Given the description of an element on the screen output the (x, y) to click on. 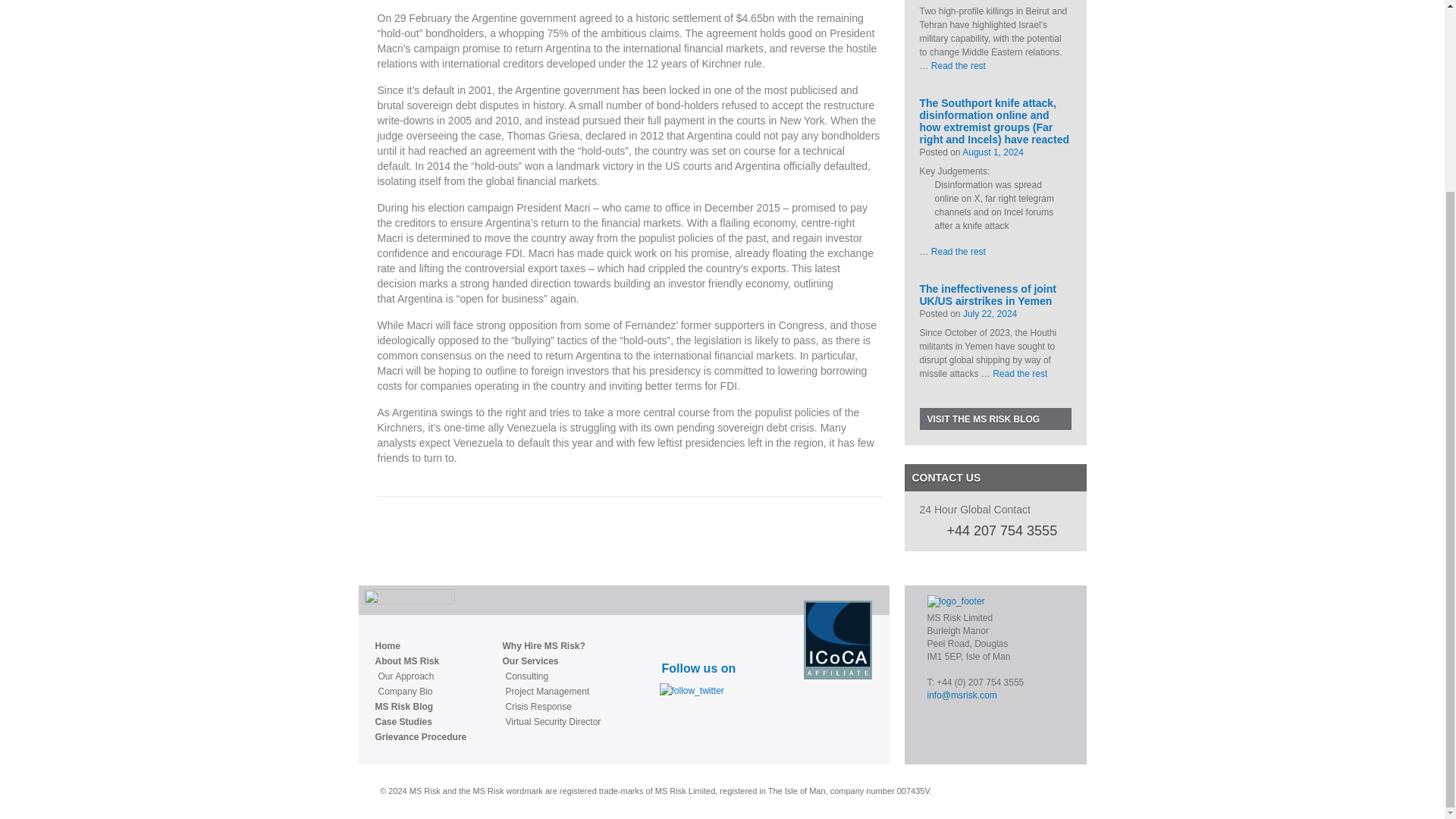
Our Approach (421, 676)
July 22, 2024 (989, 313)
About MS Risk (419, 661)
VISIT THE MS RISK BLOG (994, 418)
August 1, 2024 (992, 152)
Project Management (552, 691)
Read the rest (958, 65)
Home (419, 645)
Read the rest (1019, 373)
Case Studies (419, 721)
